Given the description of an element on the screen output the (x, y) to click on. 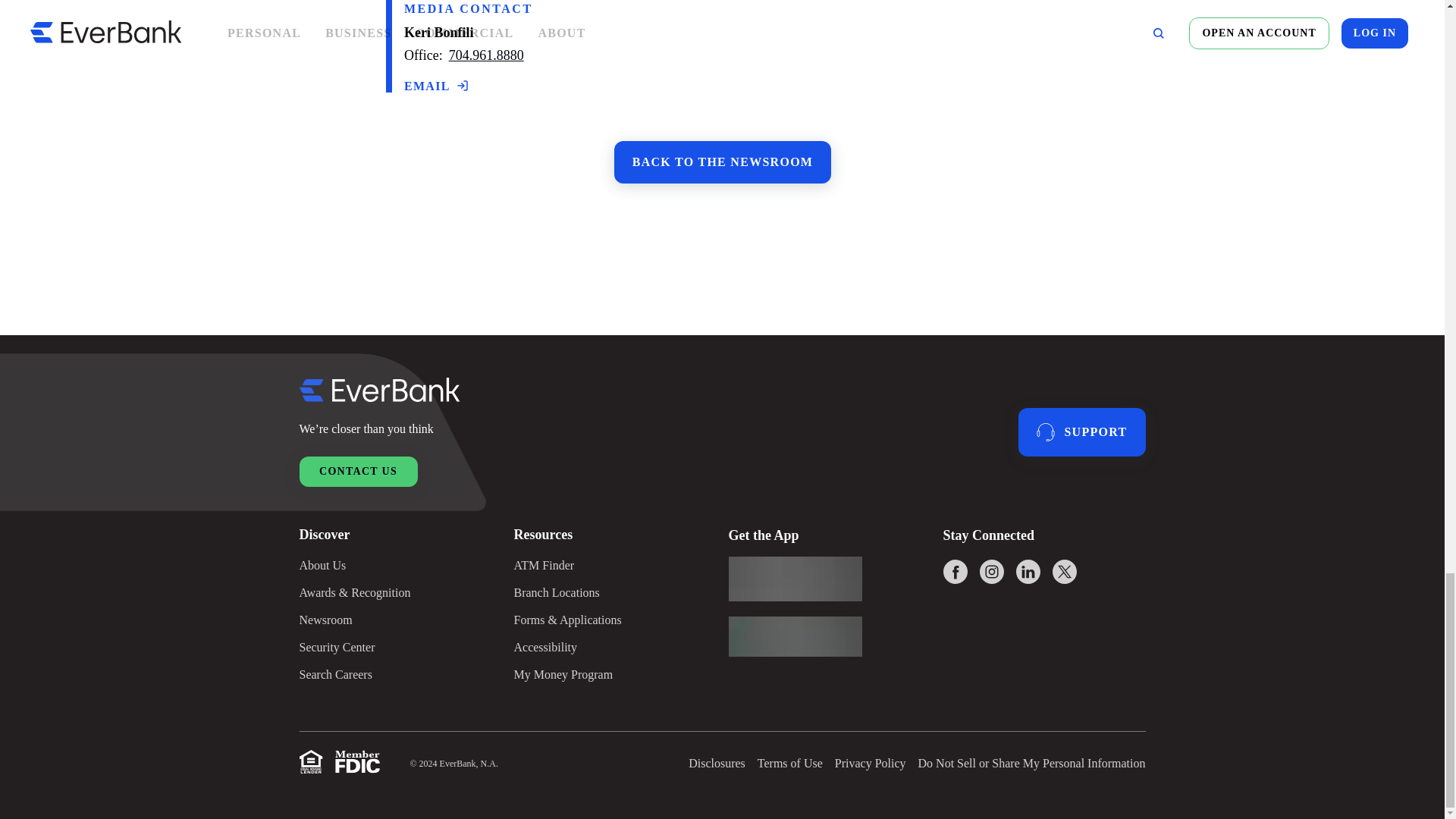
EMAIL (435, 85)
BACK TO THE NEWSROOM (721, 161)
704.961.8880 (485, 55)
